Given the description of an element on the screen output the (x, y) to click on. 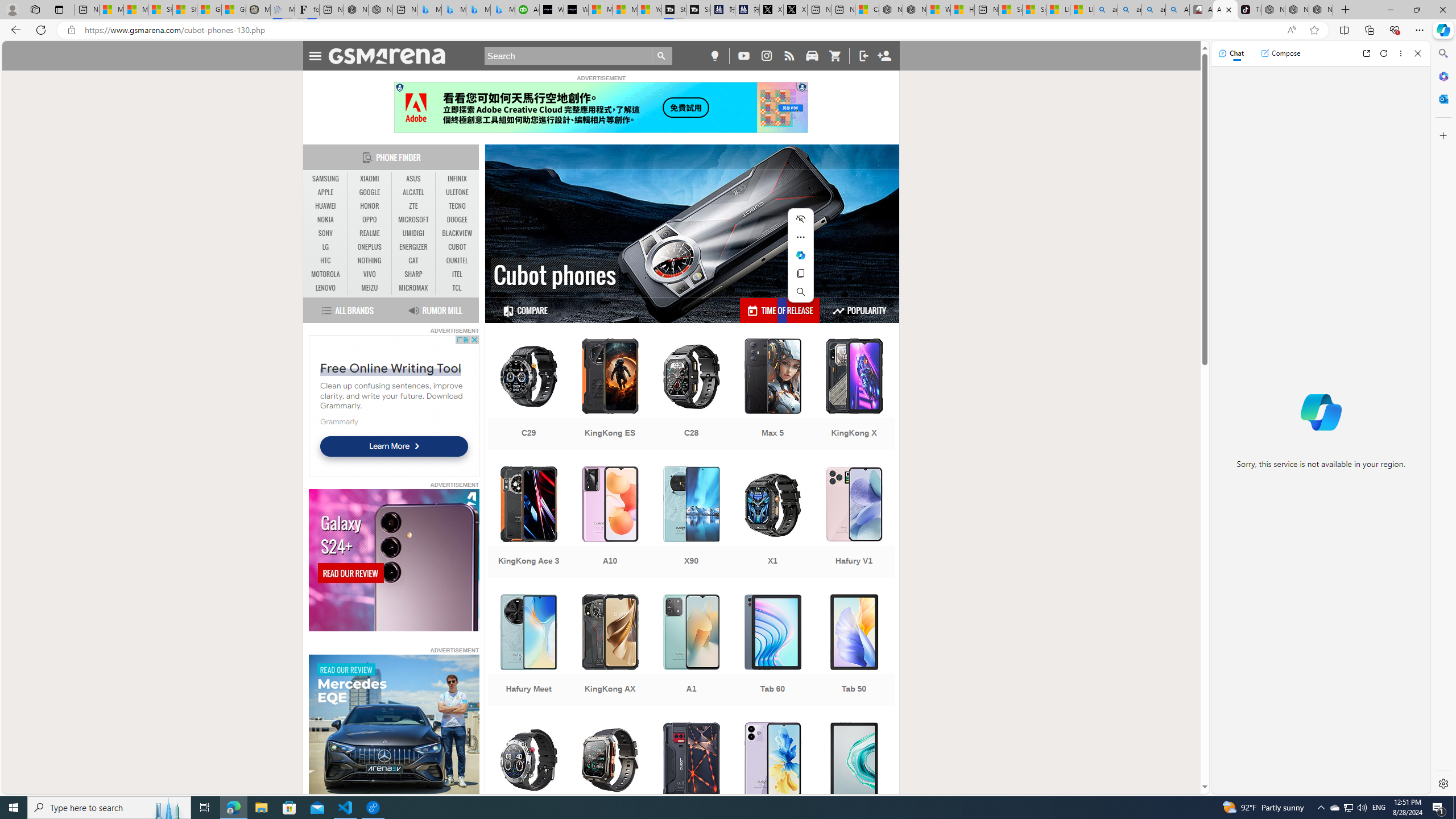
Tab 60 (772, 651)
Streaming Coverage | T3 (673, 9)
X1 (772, 523)
More actions (800, 236)
A1 (691, 651)
ZTE (413, 205)
Free Online Writing Tool (390, 367)
OPPO (369, 219)
MOTOROLA (325, 273)
X90 (691, 523)
